Given the description of an element on the screen output the (x, y) to click on. 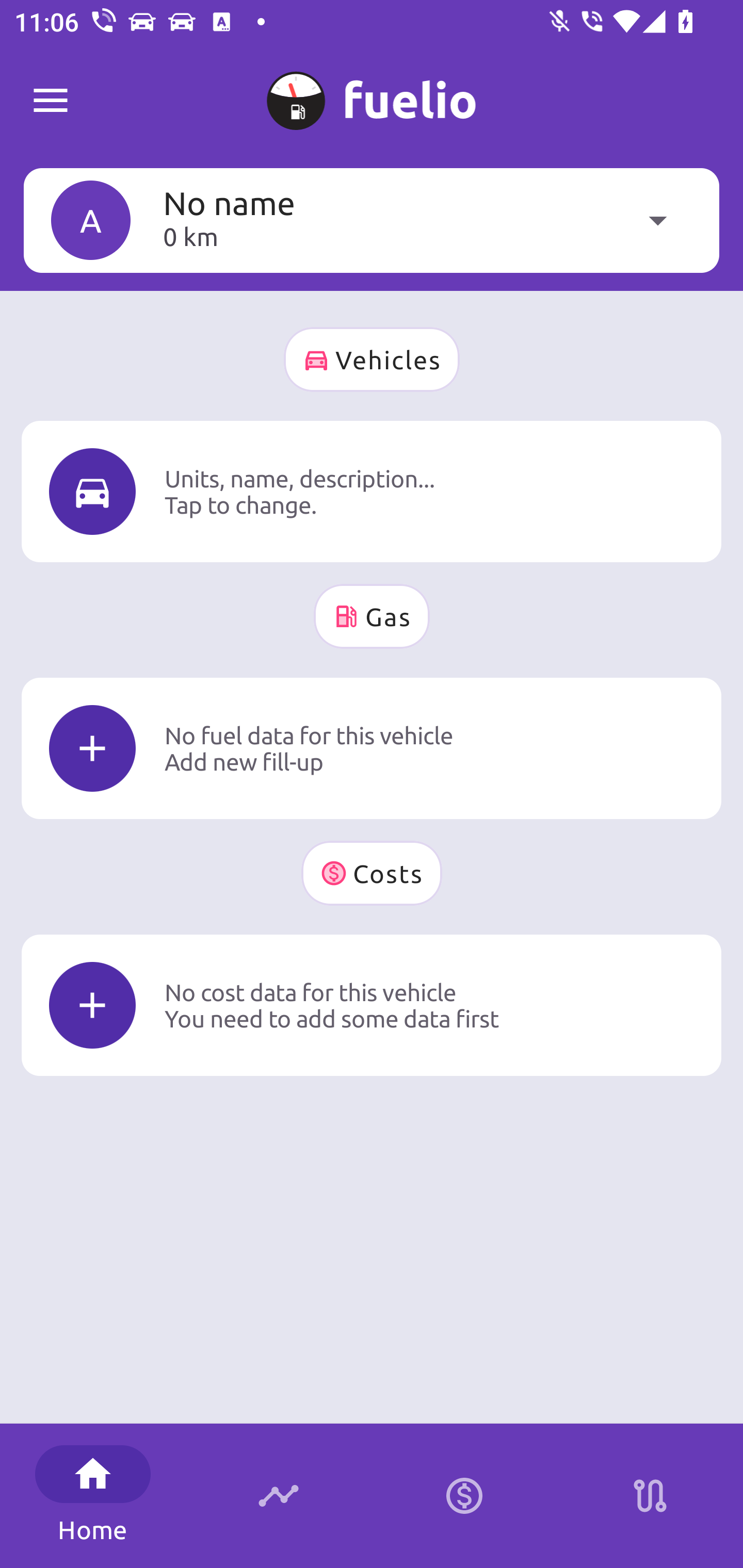
Fuelio (50, 101)
A No name 0 km (371, 219)
Vehicles (371, 359)
Icon Units, name, description...
Tap to change. (371, 491)
Icon (92, 491)
Gas (371, 616)
Icon No fuel data for this vehicle
Add new fill-up (371, 747)
Icon (92, 748)
Costs (371, 873)
Icon (92, 1004)
Timeline (278, 1495)
Calculator (464, 1495)
Stations on route (650, 1495)
